Given the description of an element on the screen output the (x, y) to click on. 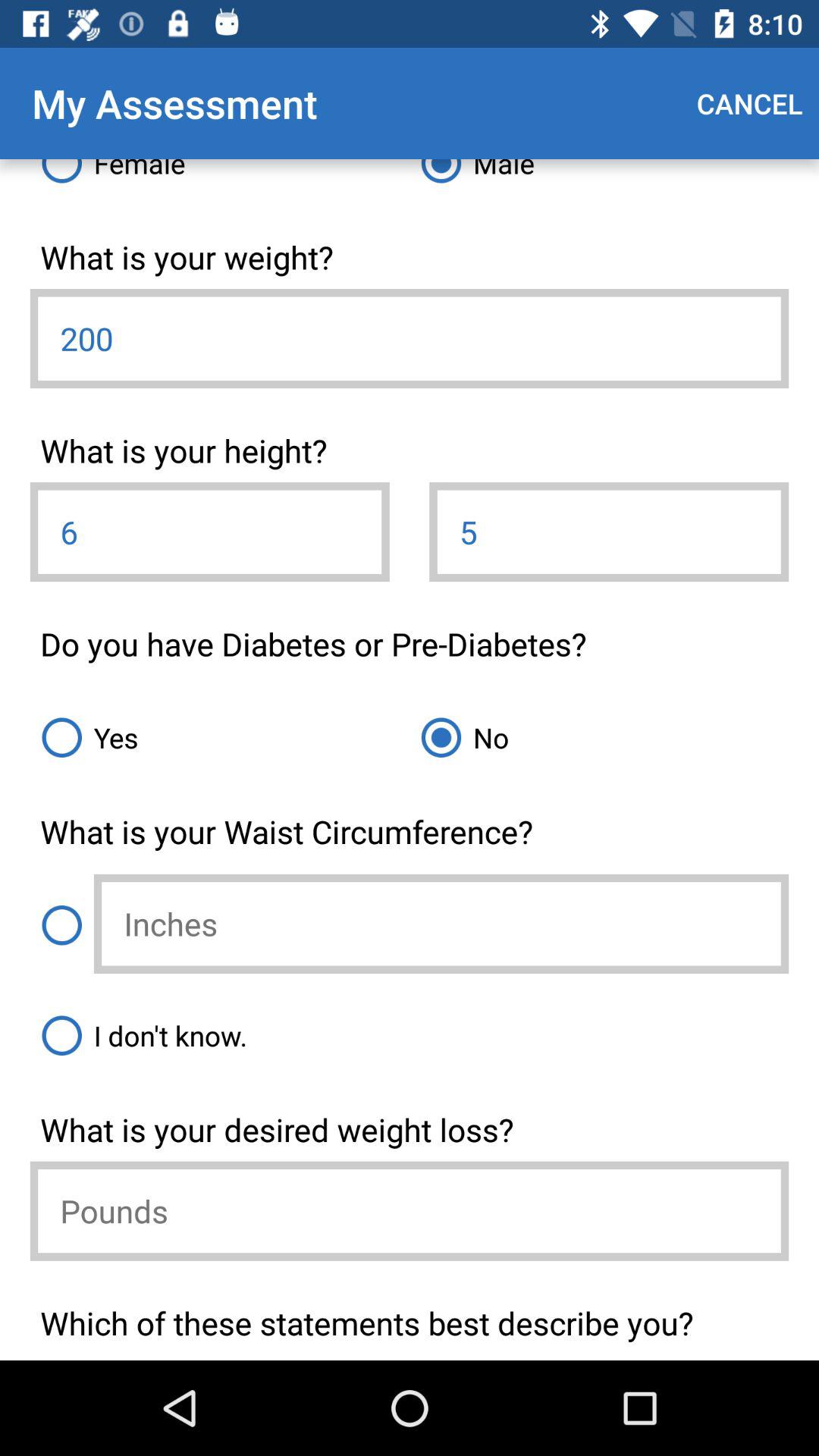
choose icon next to the female icon (598, 177)
